Given the description of an element on the screen output the (x, y) to click on. 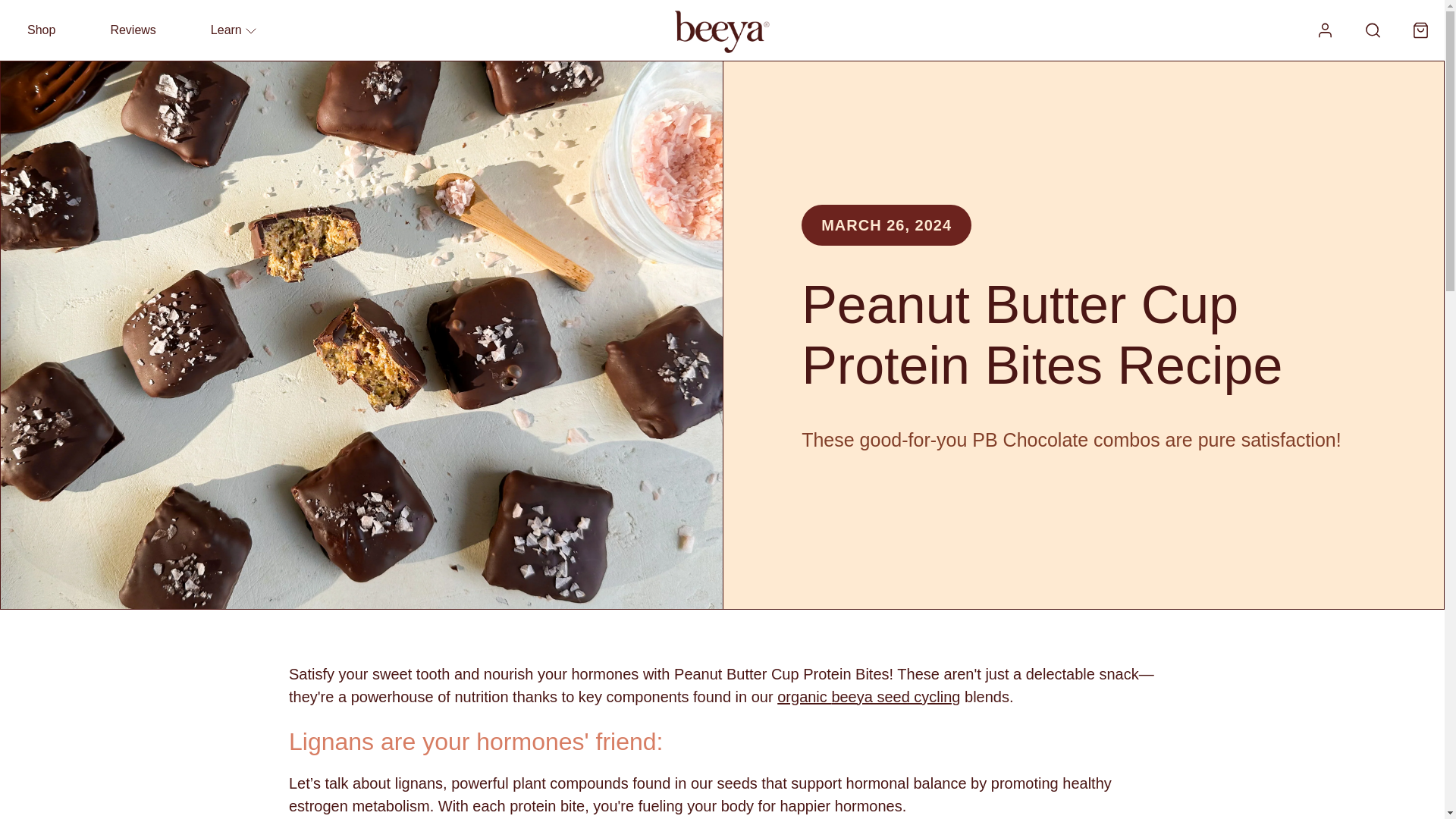
MARCH 26, 2024 (886, 224)
Shop (40, 29)
Learn (233, 29)
Reviews (132, 29)
